Given the description of an element on the screen output the (x, y) to click on. 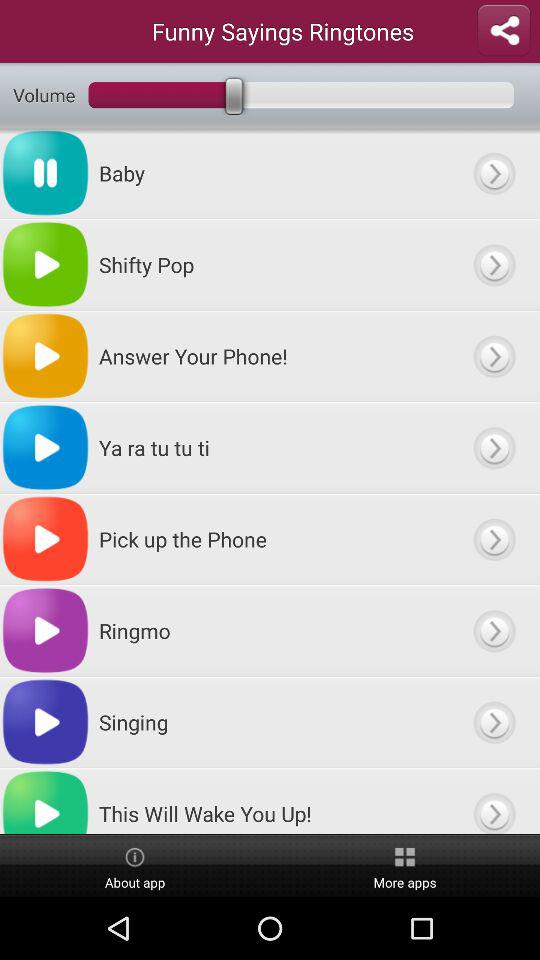
play ringtone (494, 447)
